Given the description of an element on the screen output the (x, y) to click on. 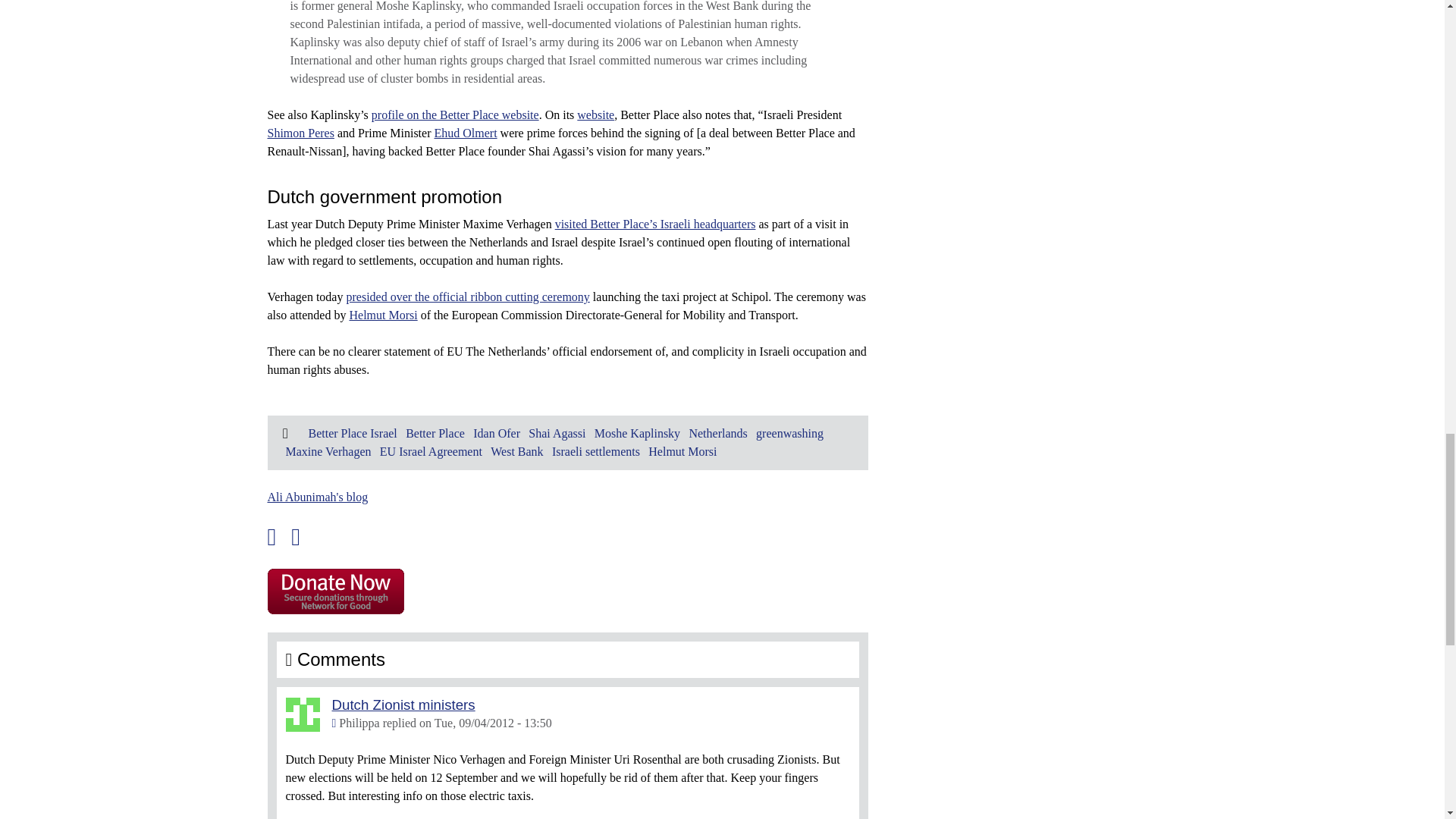
Better Place (435, 432)
Better Place Israel (351, 432)
Idan Ofer (496, 432)
presided over the official ribbon cutting ceremony (467, 296)
Netherlands (717, 432)
Maxine Verhagen (328, 451)
Israeli settlements (595, 451)
profile on the Better Place website (454, 114)
Shai Agassi (556, 432)
Helmut Morsi (681, 451)
Read Ali Abunimah's latest blog entries. (317, 496)
greenwashing (789, 432)
Ali Abunimah's blog (317, 496)
West Bank (516, 451)
Ehud Olmert (464, 132)
